Given the description of an element on the screen output the (x, y) to click on. 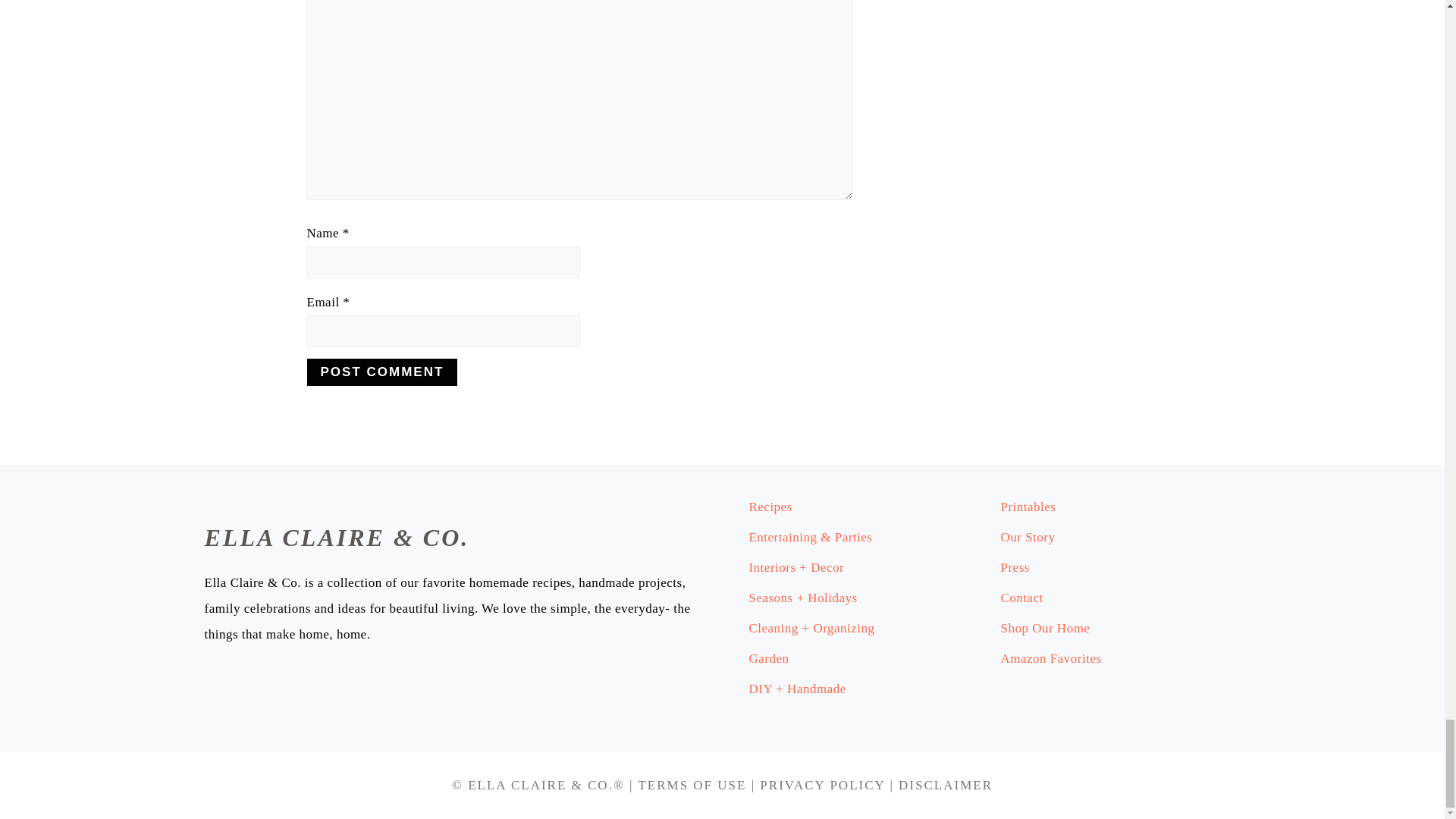
Post Comment (381, 371)
